Given the description of an element on the screen output the (x, y) to click on. 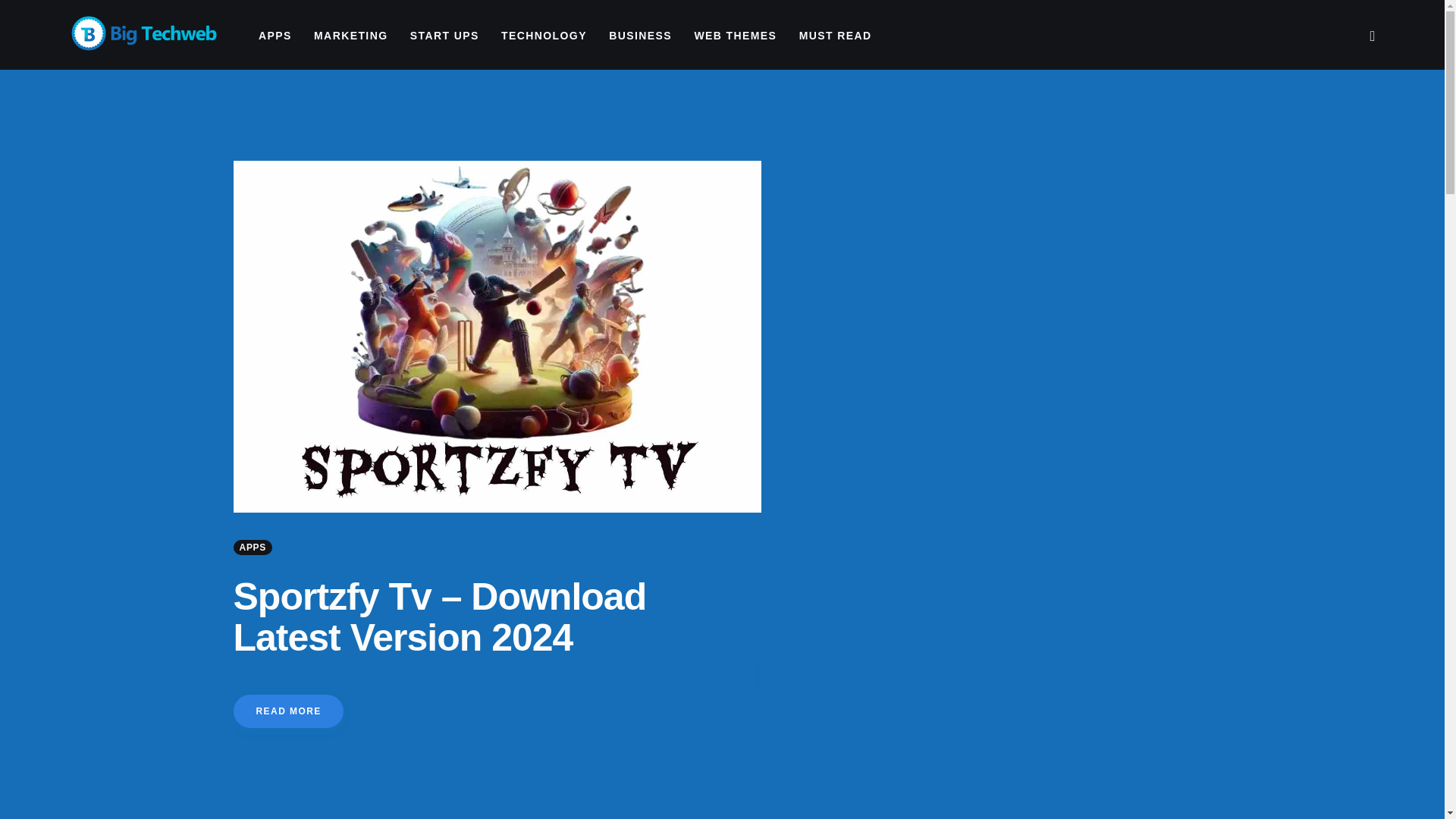
APPS (274, 36)
MUST READ (834, 36)
MARKETING (350, 36)
TECHNOLOGY (542, 36)
BUSINESS (640, 36)
WEB THEMES (734, 36)
START UPS (443, 36)
